Given the description of an element on the screen output the (x, y) to click on. 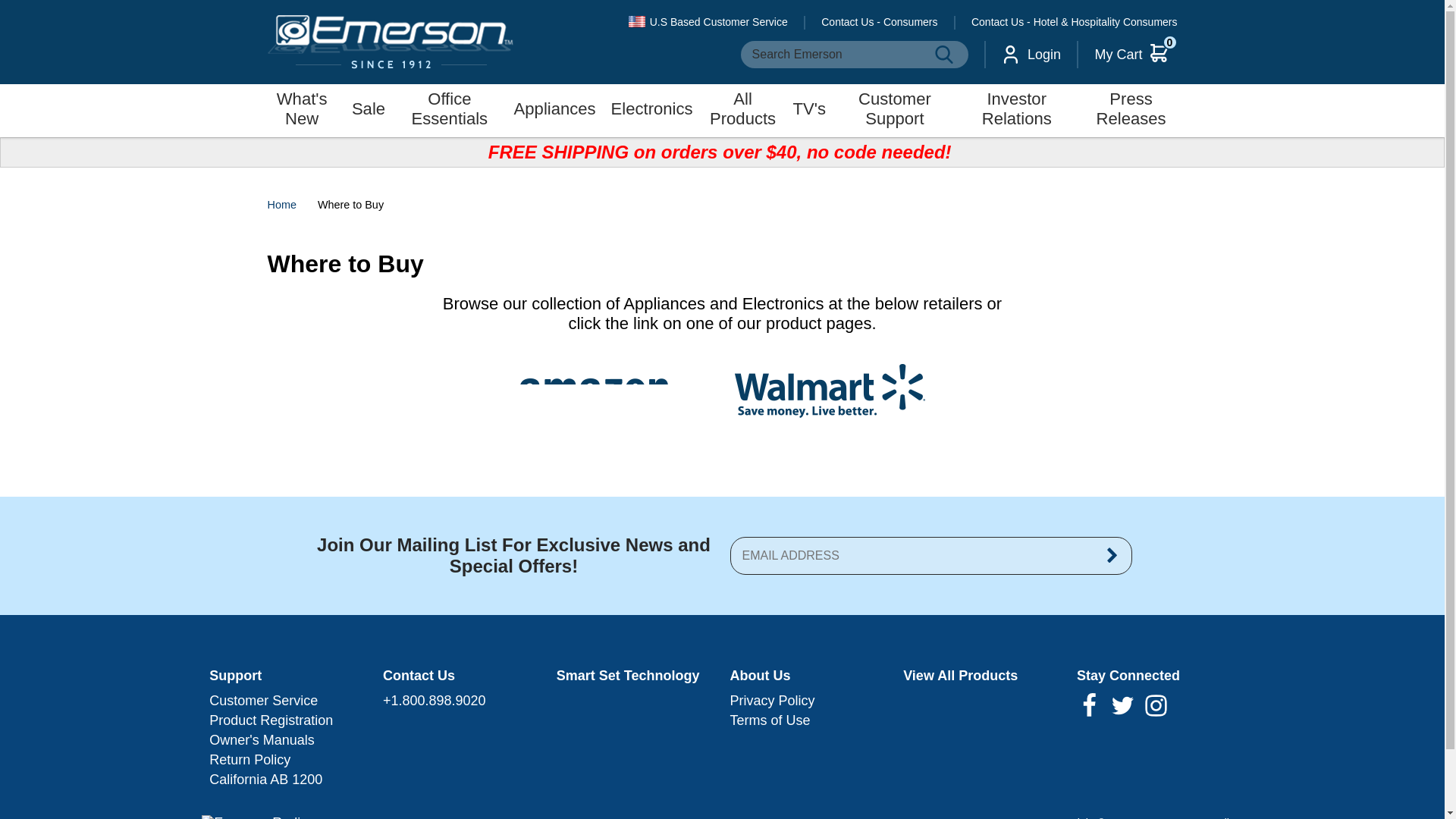
Customer Support (894, 110)
Press Releases (1131, 110)
Office Essentials (449, 110)
Appliances (555, 110)
TV's (809, 110)
What's New (301, 110)
Sale (368, 110)
U.S Based Customer Service (707, 22)
All Products (1135, 53)
Electronics (743, 110)
Click to search (652, 110)
Login (943, 54)
Contact Us - Consumers (1031, 53)
Click to submit (879, 22)
